Given the description of an element on the screen output the (x, y) to click on. 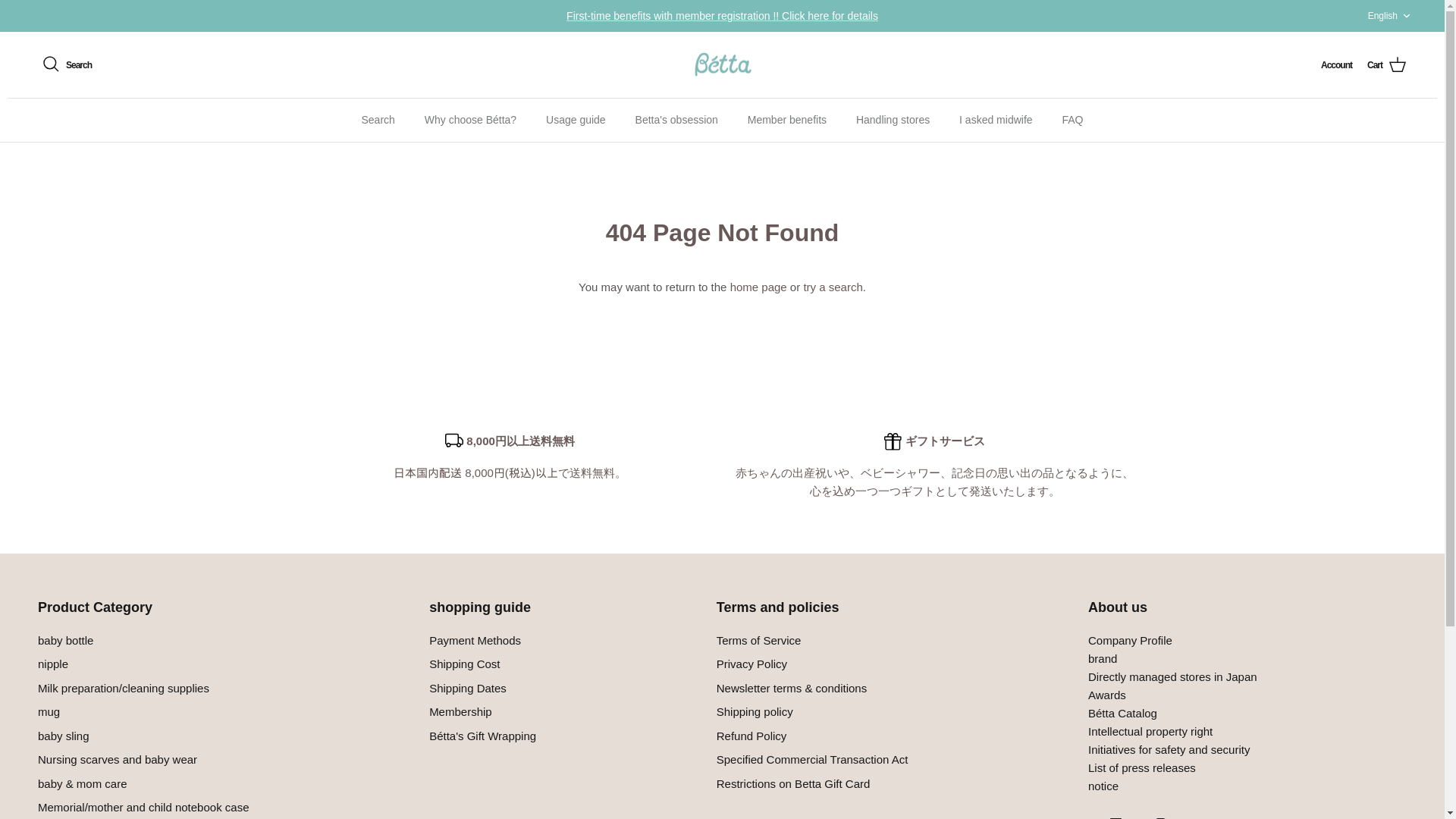
Awards (1106, 694)
Betta Baby Store (721, 64)
notice (1102, 785)
Awards (1122, 712)
Company Profile (1129, 640)
Initiatives for safety and security (1168, 748)
Directly managed stores in Japan (1172, 676)
List of press releases (1141, 767)
About the brand (1101, 658)
